Given the description of an element on the screen output the (x, y) to click on. 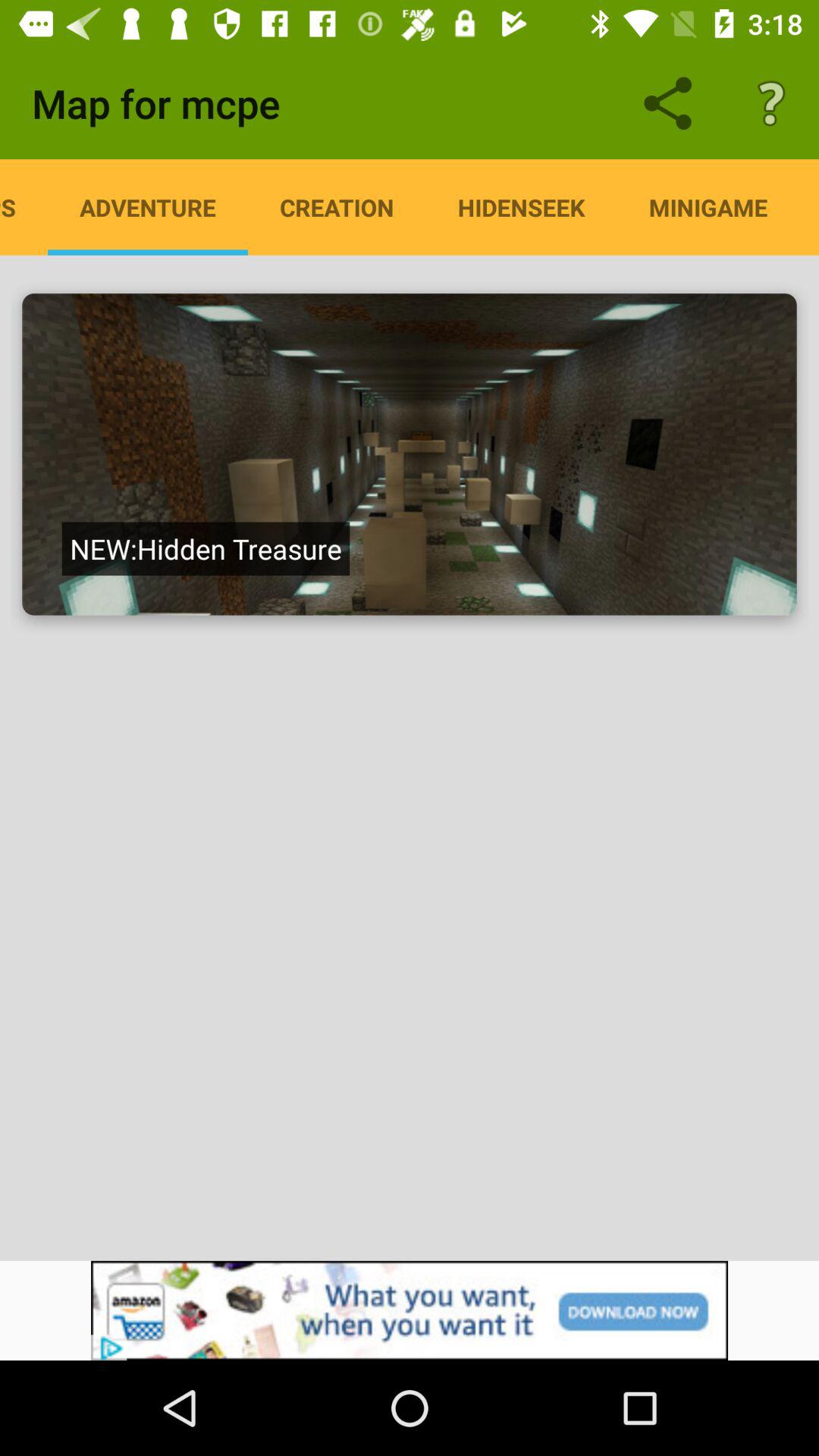
click on the screen (409, 454)
